Given the description of an element on the screen output the (x, y) to click on. 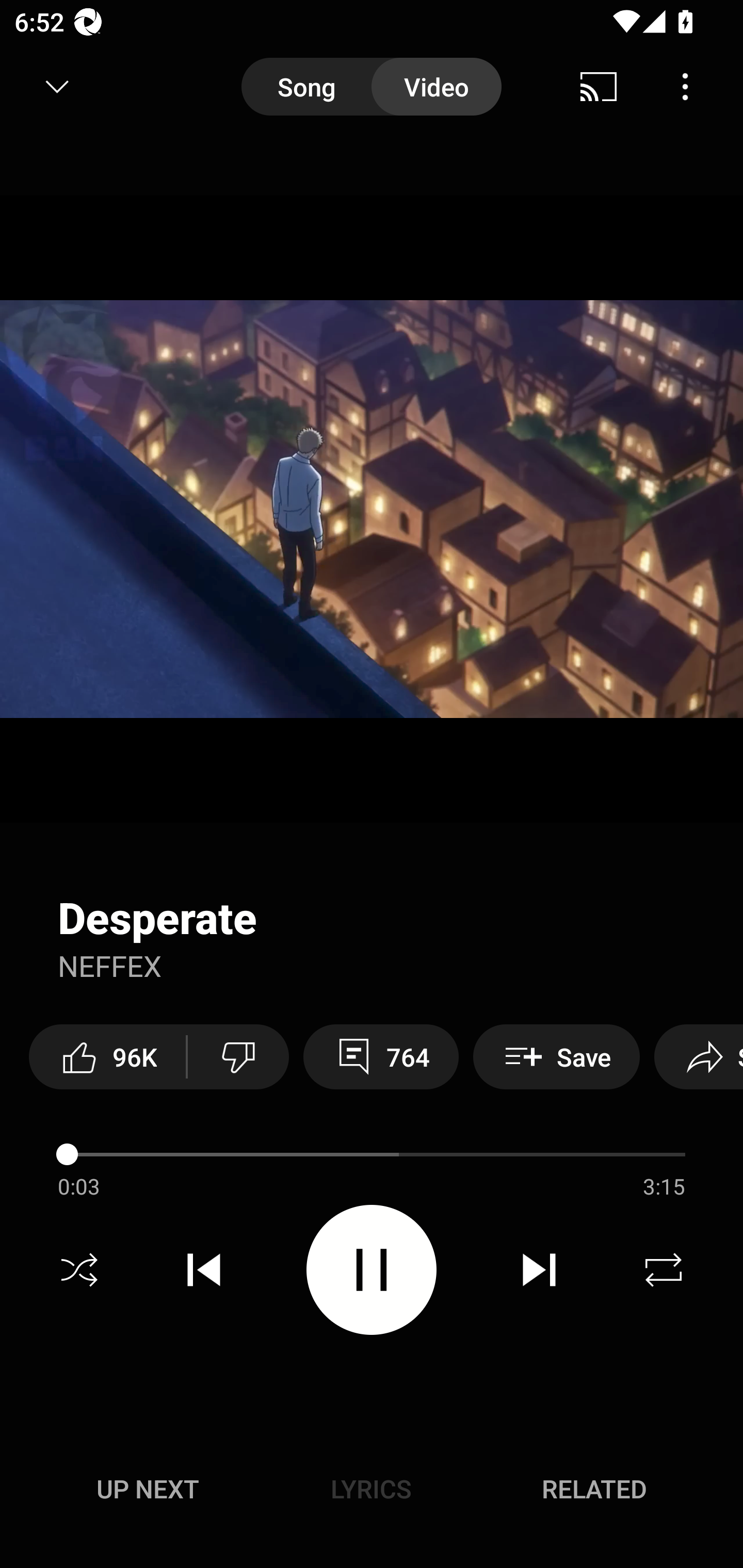
Minimize (57, 86)
Cast. Disconnected (598, 86)
Menu (684, 86)
96K like this video along with 96,235 other people (106, 1056)
Dislike (238, 1056)
764 View 764 comments (380, 1056)
Save Save to playlist (556, 1056)
Share (698, 1056)
Pause video (371, 1269)
Shuffle off (79, 1269)
Previous track (203, 1269)
Next track (538, 1269)
Repeat off (663, 1269)
Up next UP NEXT Lyrics LYRICS Related RELATED (371, 1491)
Lyrics LYRICS (370, 1488)
Related RELATED (594, 1488)
